Given the description of an element on the screen output the (x, y) to click on. 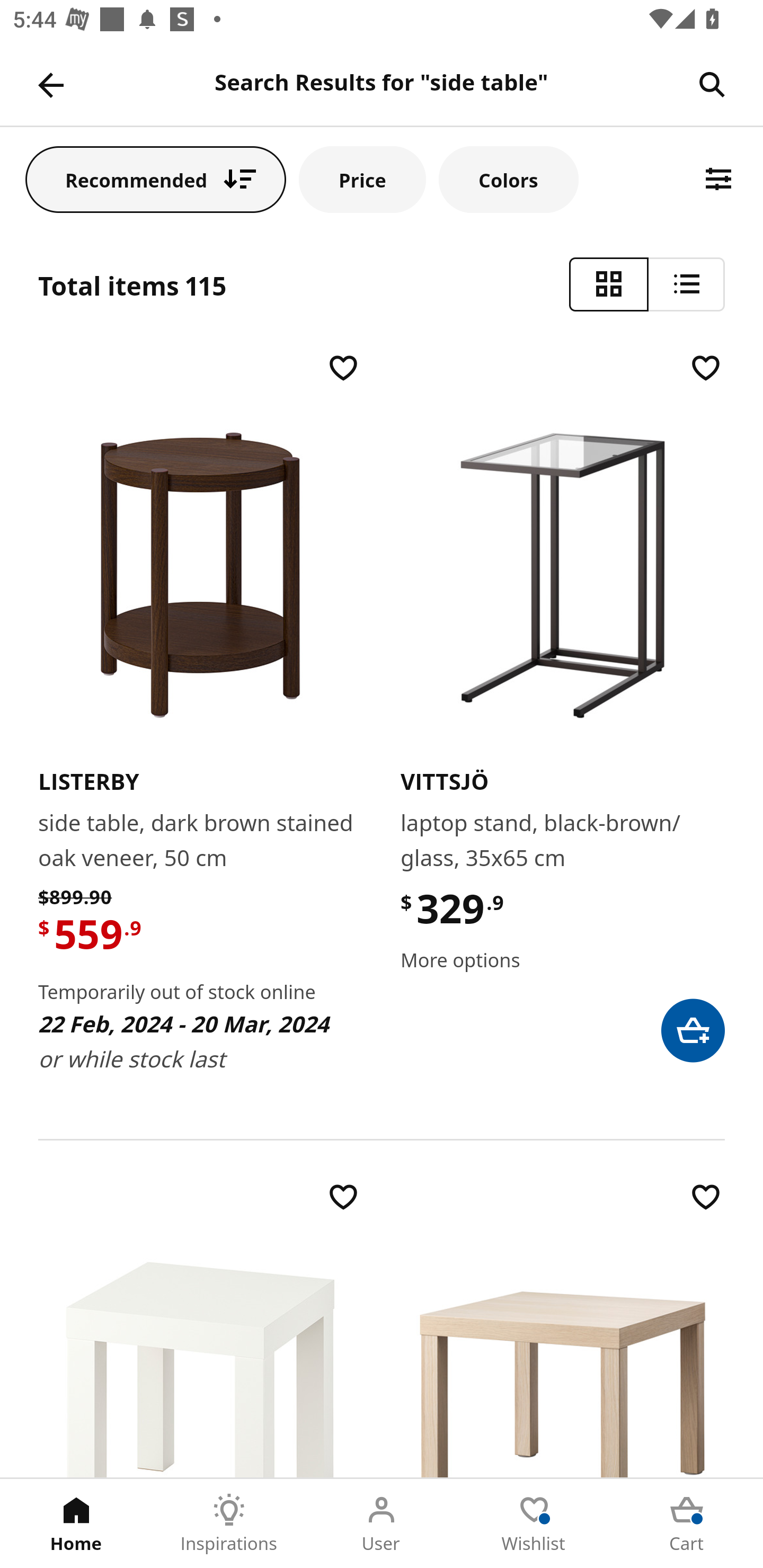
Recommended (155, 179)
Price (362, 179)
Colors (508, 179)
​L​A​C​K​
side table, white, 35x35 cm
$
79
.9 (200, 1328)
Home
Tab 1 of 5 (76, 1522)
Inspirations
Tab 2 of 5 (228, 1522)
User
Tab 3 of 5 (381, 1522)
Wishlist
Tab 4 of 5 (533, 1522)
Cart
Tab 5 of 5 (686, 1522)
